Given the description of an element on the screen output the (x, y) to click on. 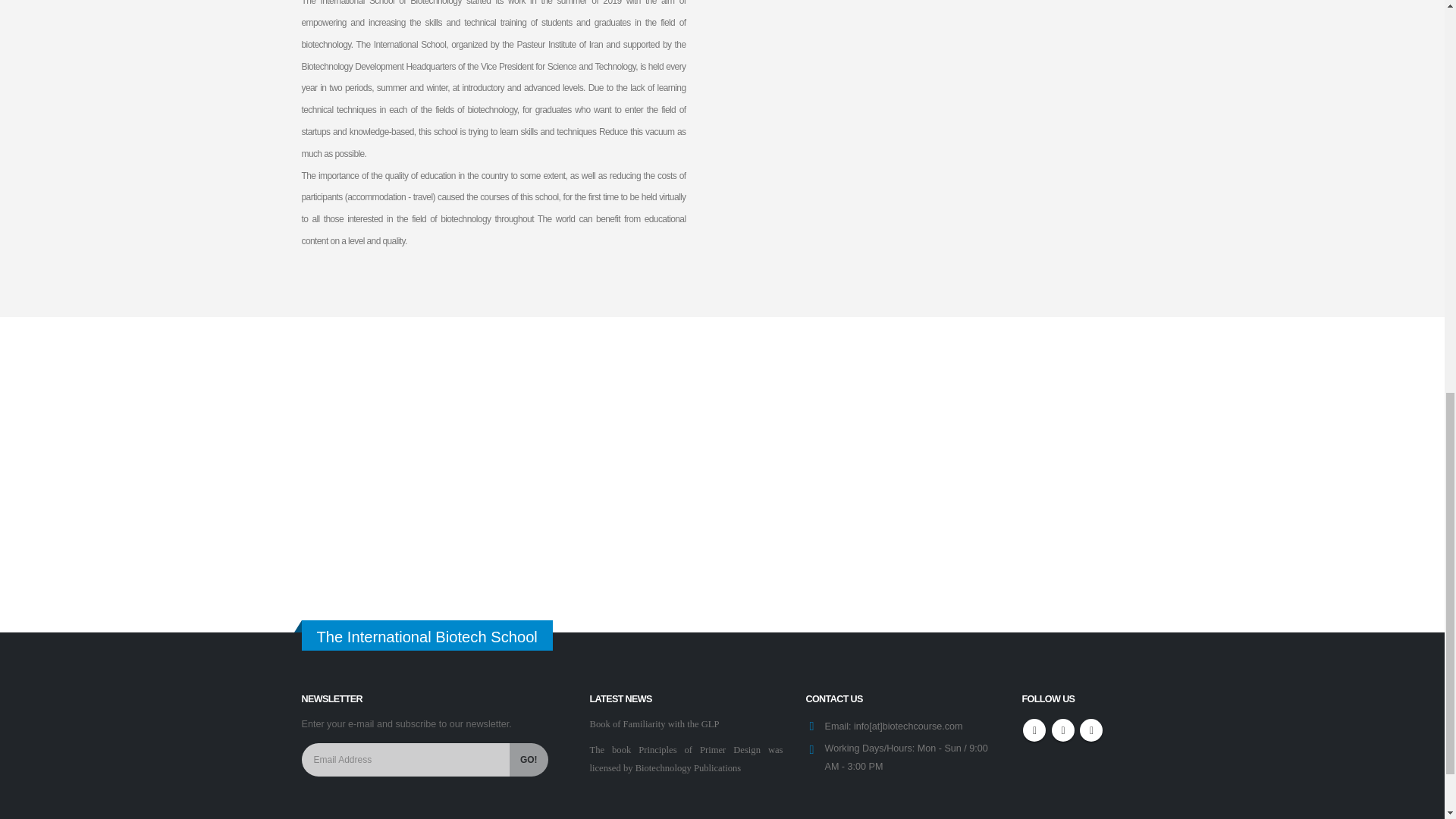
GO! (528, 759)
